Given the description of an element on the screen output the (x, y) to click on. 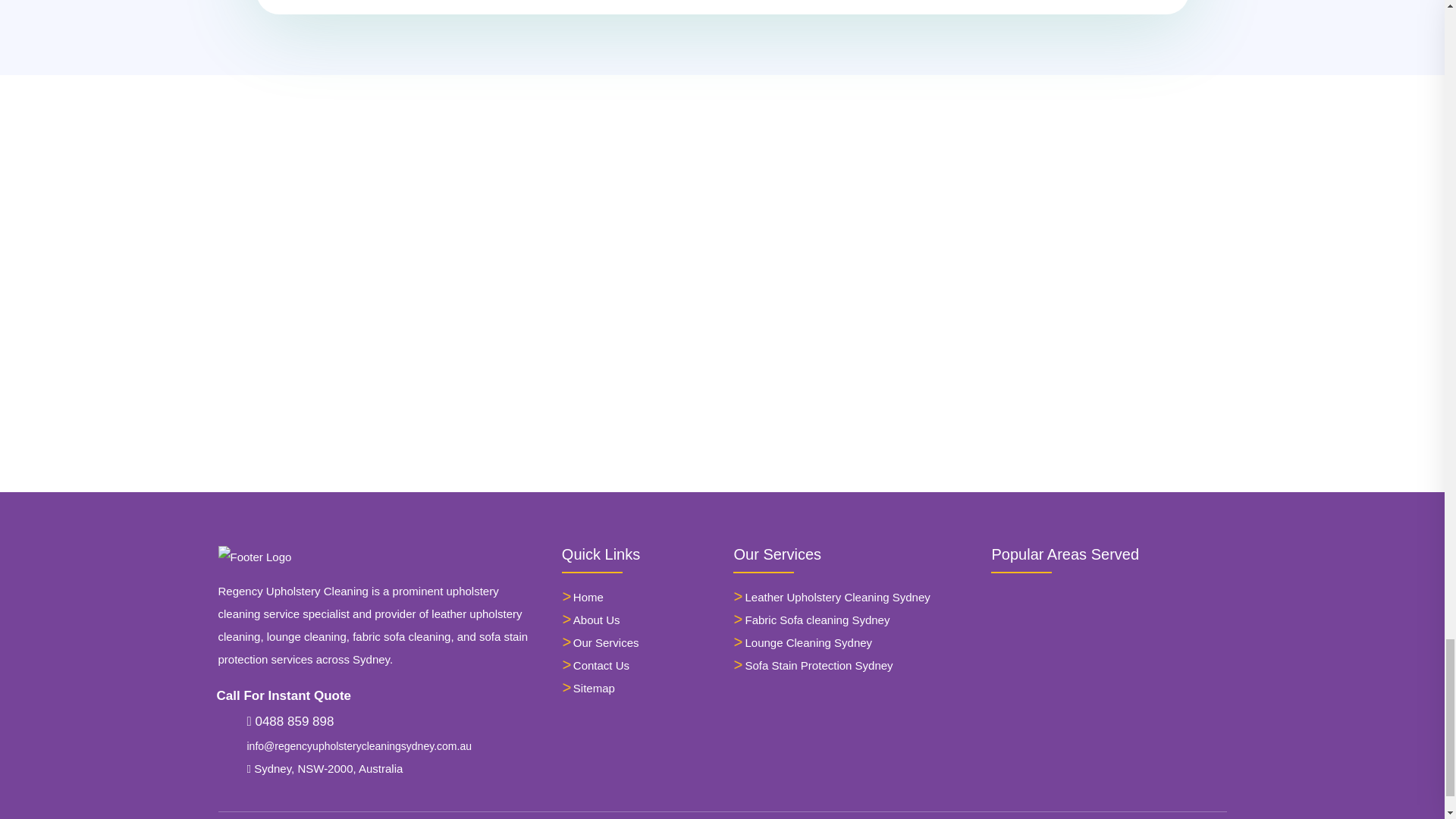
0488 859 898 (290, 721)
